Given the description of an element on the screen output the (x, y) to click on. 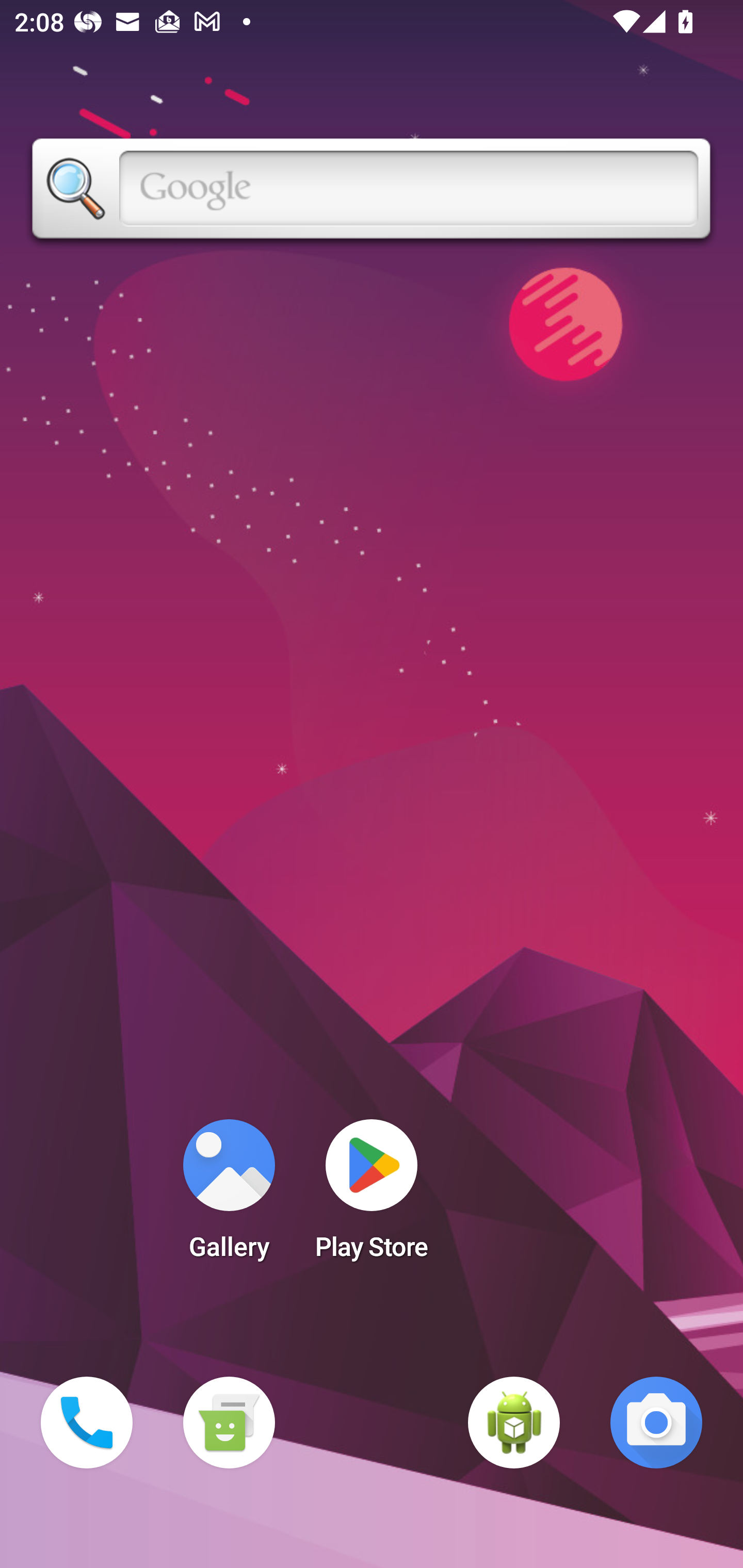
Gallery (228, 1195)
Play Store (371, 1195)
Phone (86, 1422)
Messaging (228, 1422)
WebView Browser Tester (513, 1422)
Camera (656, 1422)
